Given the description of an element on the screen output the (x, y) to click on. 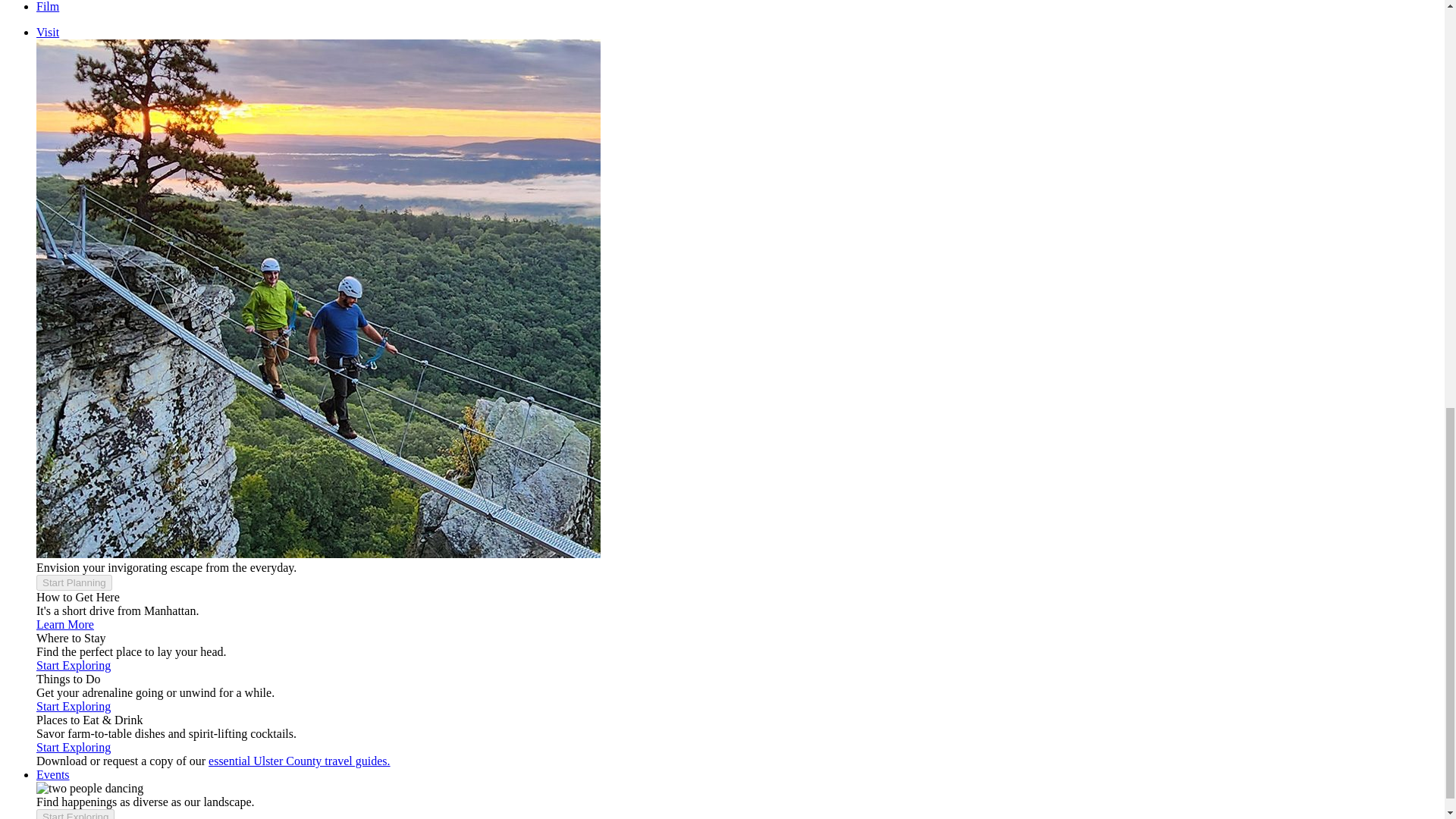
Start Exploring (73, 747)
Start Planning (74, 581)
Visit (47, 31)
Start Exploring (73, 665)
essential Ulster County travel guides. (299, 760)
Start Planning (74, 582)
Learn More (65, 624)
Start Exploring (73, 706)
Film (47, 6)
Events (52, 774)
